Given the description of an element on the screen output the (x, y) to click on. 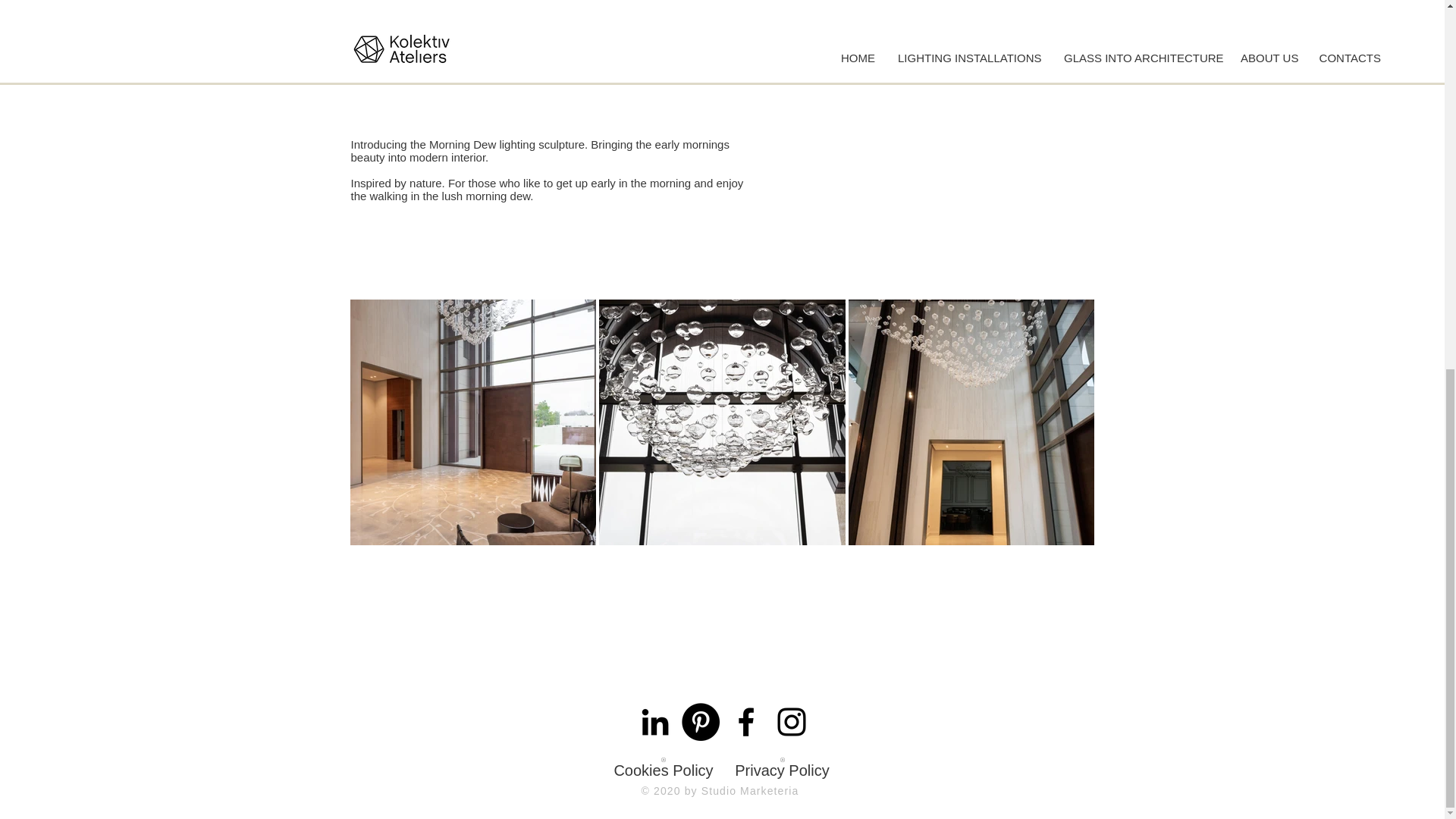
Cookies Policy (663, 763)
Cookies Policy (663, 763)
Privacy Policy (781, 763)
Privacy Policy (781, 763)
